Given the description of an element on the screen output the (x, y) to click on. 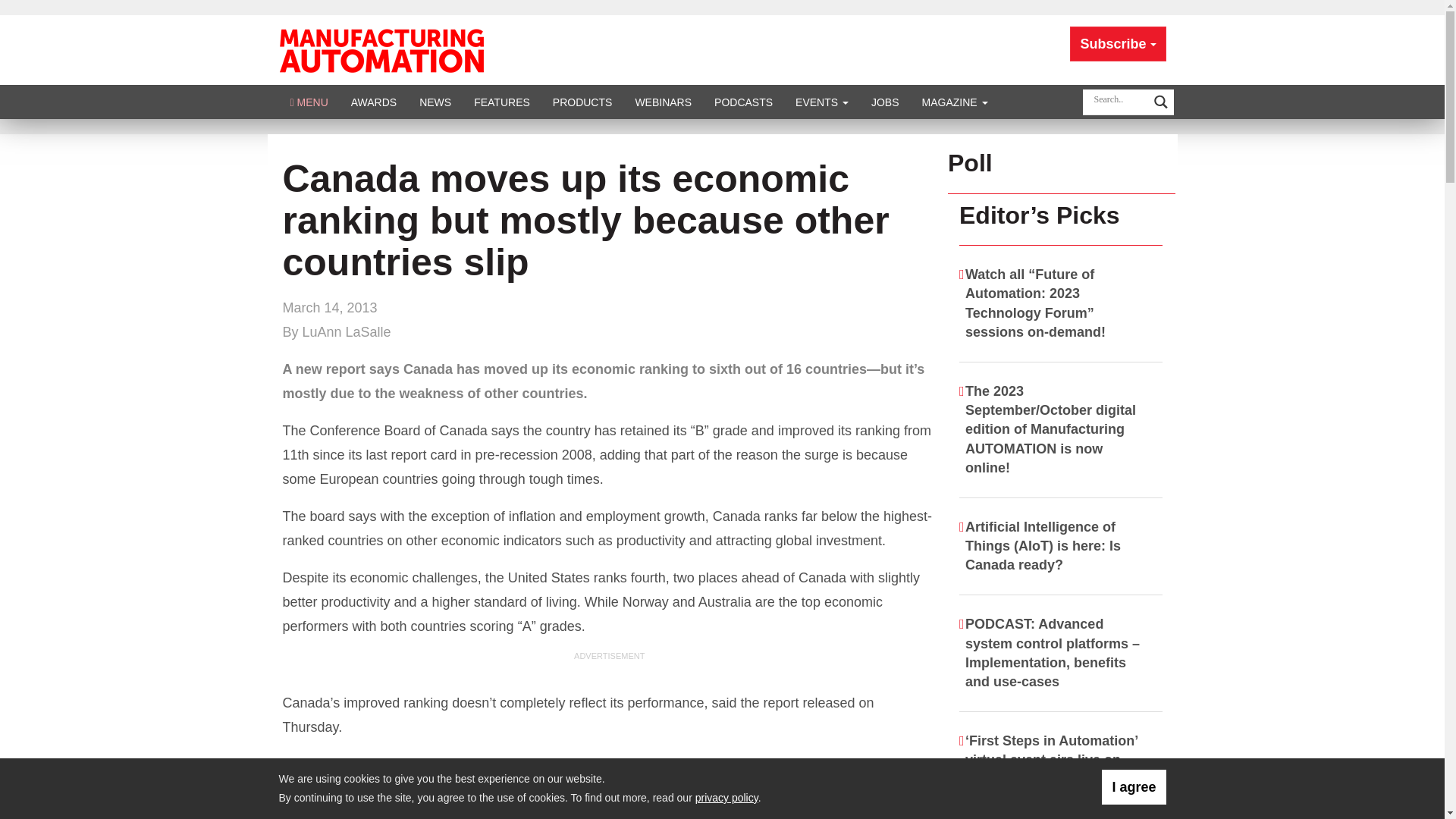
JOBS (885, 101)
NEWS (435, 101)
FEATURES (502, 101)
PRODUCTS (582, 101)
MENU (309, 101)
Manufacturing AUTOMATION (381, 48)
EVENTS (822, 101)
Subscribe (1118, 43)
WEBINARS (663, 101)
Click to show site navigation (309, 101)
